Given the description of an element on the screen output the (x, y) to click on. 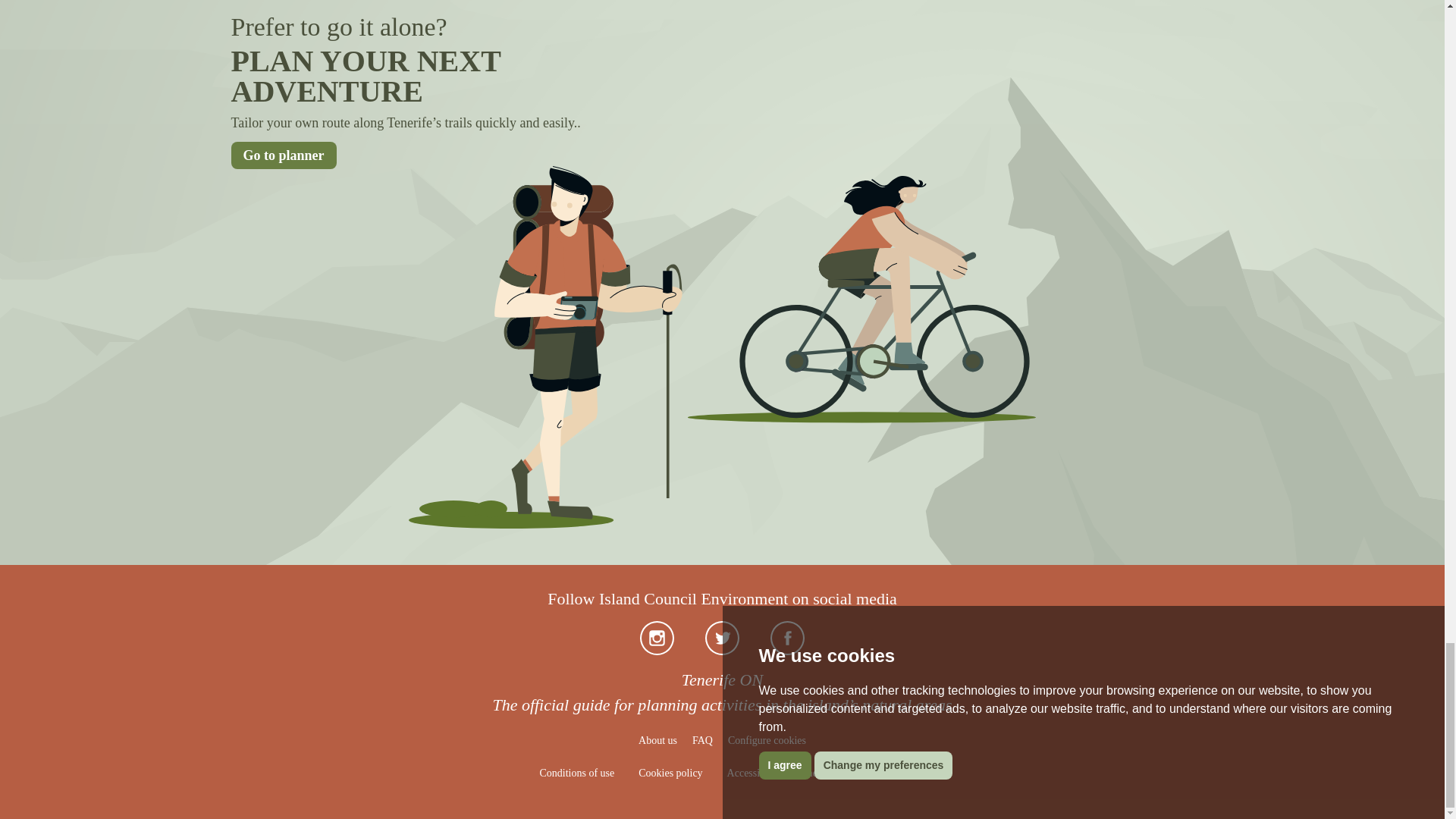
Enlace al perfil de Facebook (787, 636)
Enlace a nuestro planificador de rutas (283, 154)
Enlace al perfil de Instagram (657, 636)
Enlace al perfil de Twiter (721, 636)
